Given the description of an element on the screen output the (x, y) to click on. 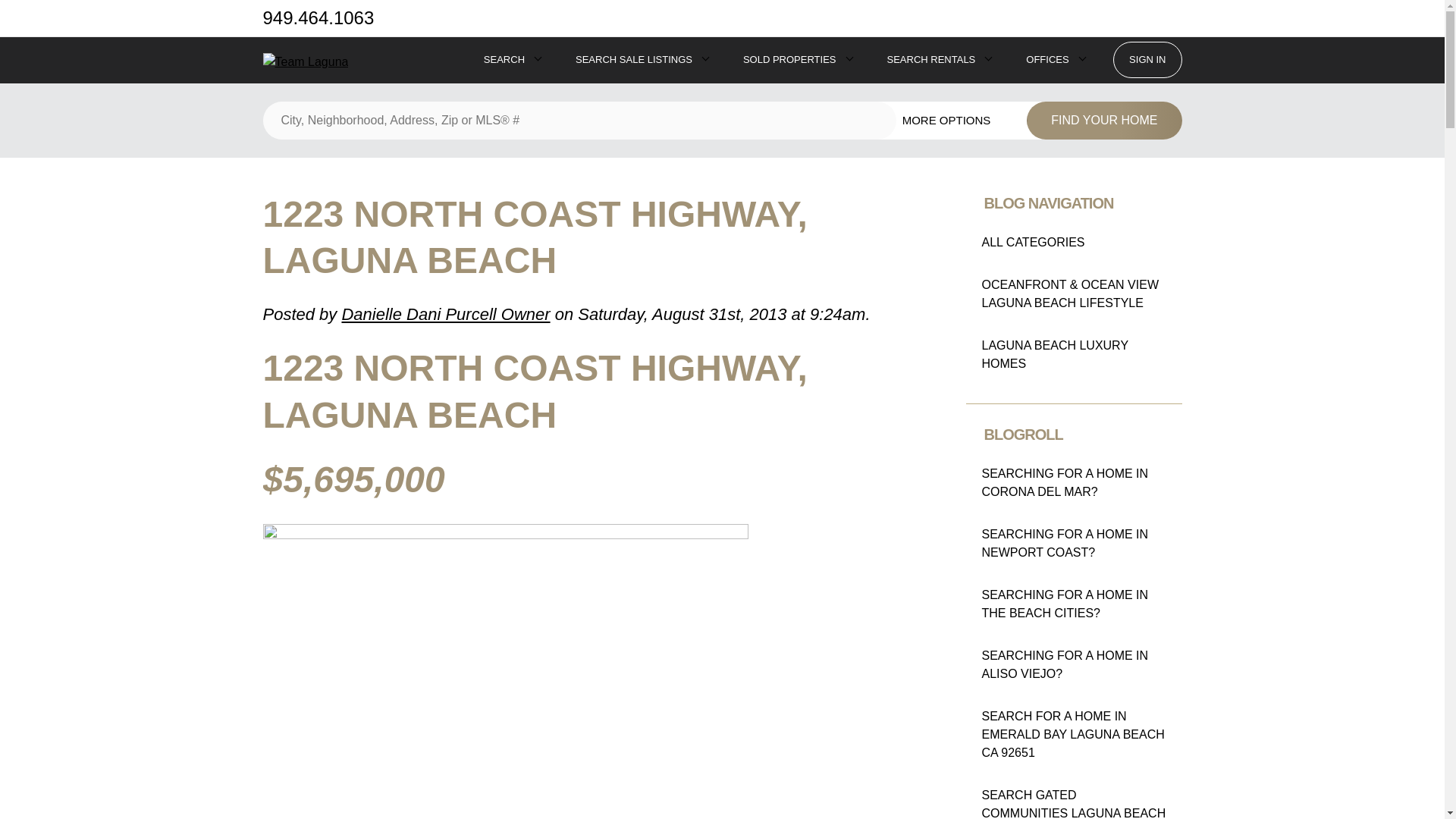
Sign in to your account (1146, 59)
949.464.1063 (318, 17)
SEARCH (503, 59)
SEARCH SALE LISTINGS (633, 59)
SEARCH RENTALS (930, 59)
OFFICES (1047, 59)
SIGN IN (1146, 59)
Site Logo (304, 62)
SOLD PROPERTIES (788, 59)
